Given the description of an element on the screen output the (x, y) to click on. 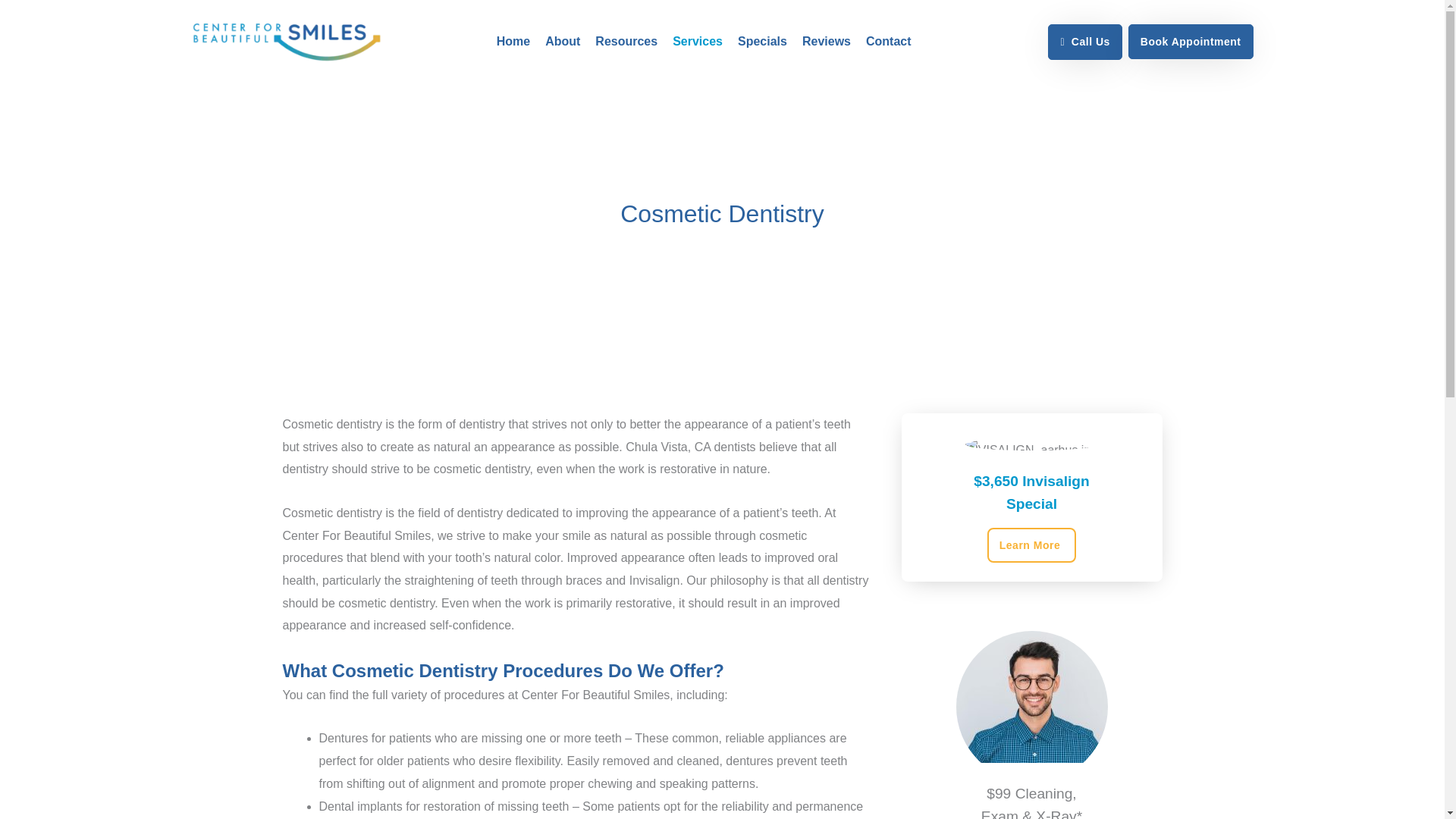
GettyImages-951331990 (1030, 706)
  Call Us (1084, 41)
About (562, 41)
Reviews (826, 41)
Specials (762, 41)
Home (513, 41)
Resources (626, 41)
Contact (888, 41)
Services (697, 41)
Book Appointment (1190, 41)
Learn More (1031, 544)
